Given the description of an element on the screen output the (x, y) to click on. 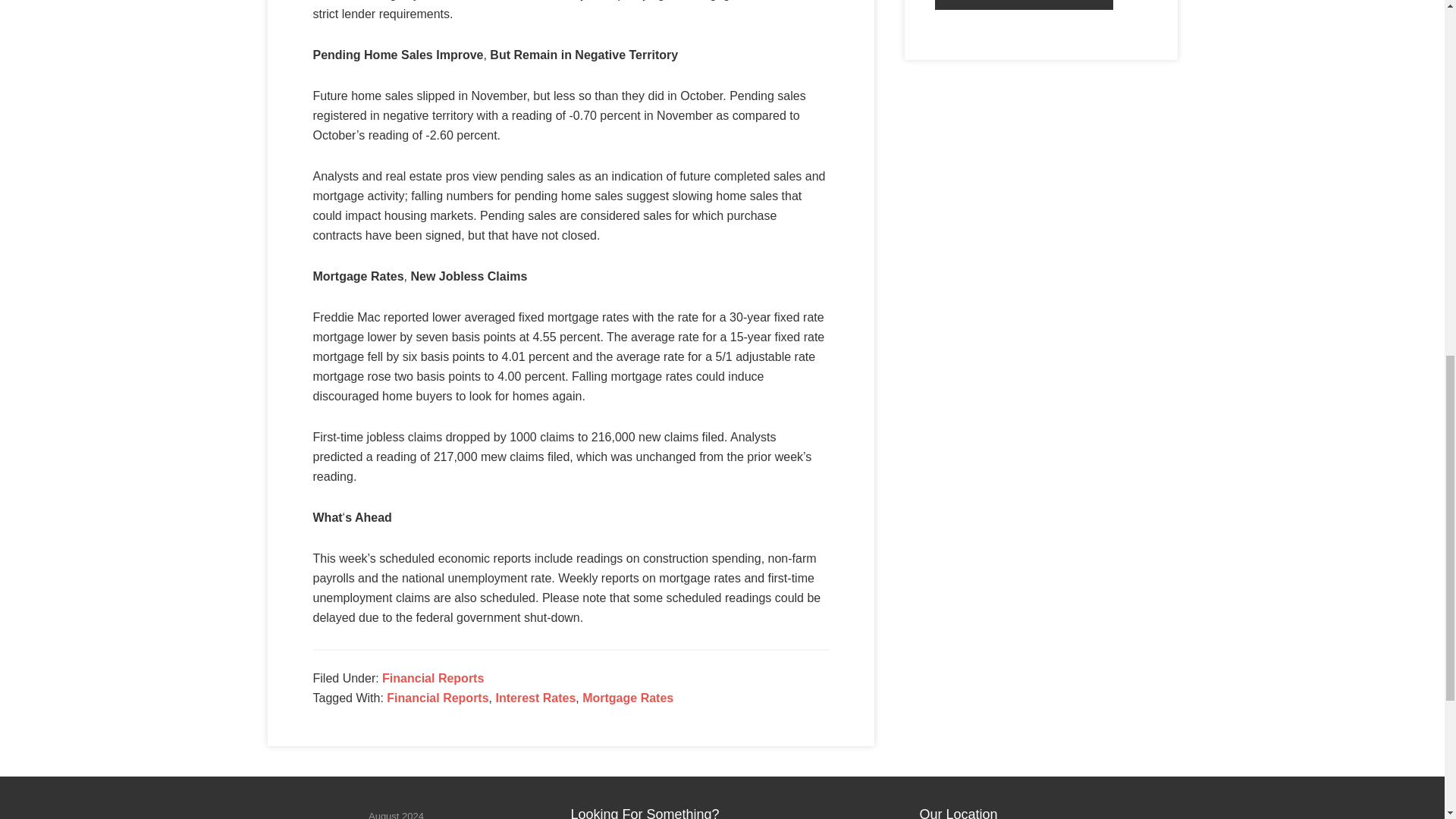
Interest Rates (535, 697)
Mortgage Rates (627, 697)
Send My Information (1023, 4)
Financial Reports (432, 677)
Financial Reports (437, 697)
Send My Information (1023, 4)
